Given the description of an element on the screen output the (x, y) to click on. 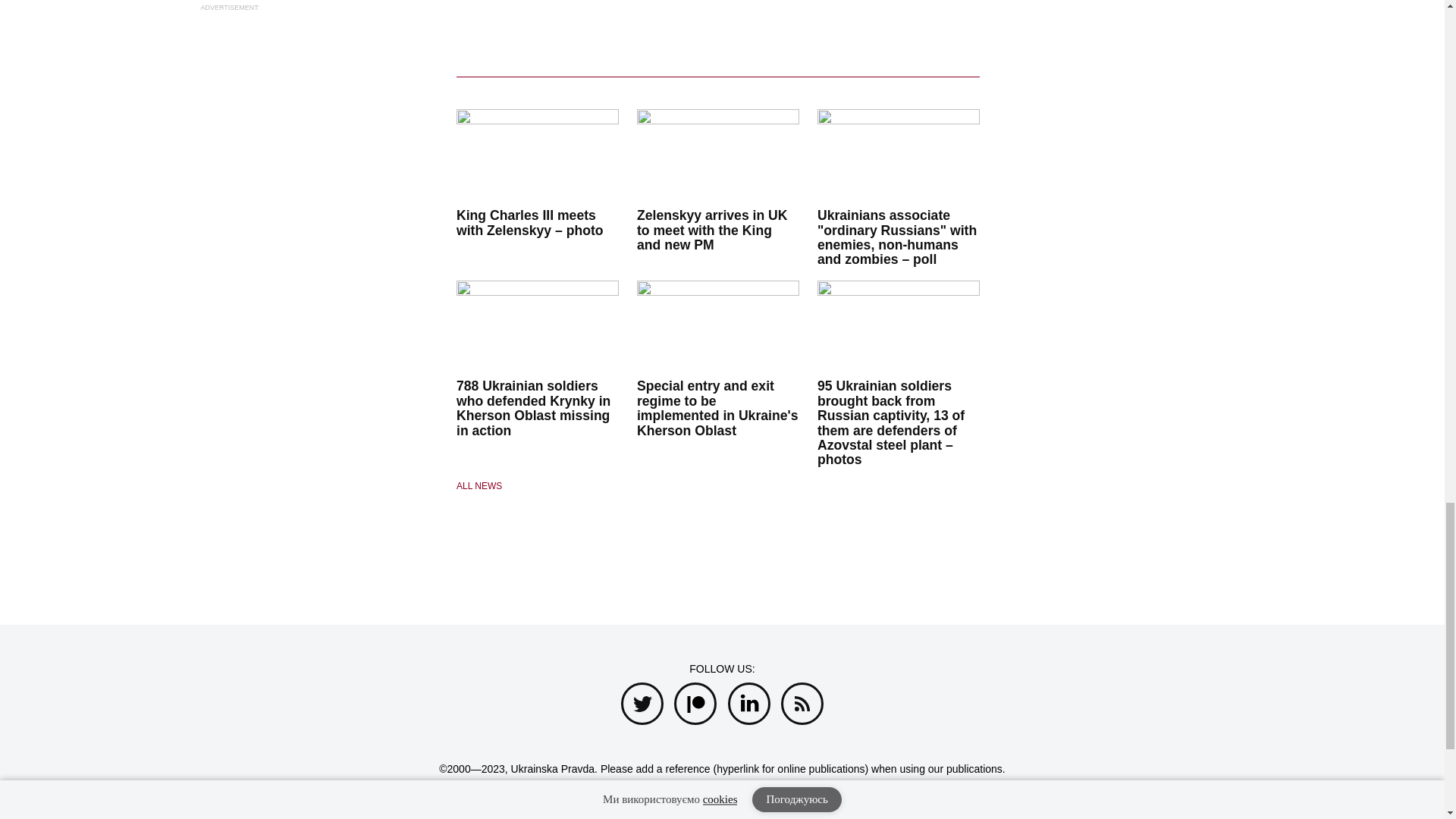
Zelenskyy arrives in UK to meet with the King and new PM (712, 230)
